Given the description of an element on the screen output the (x, y) to click on. 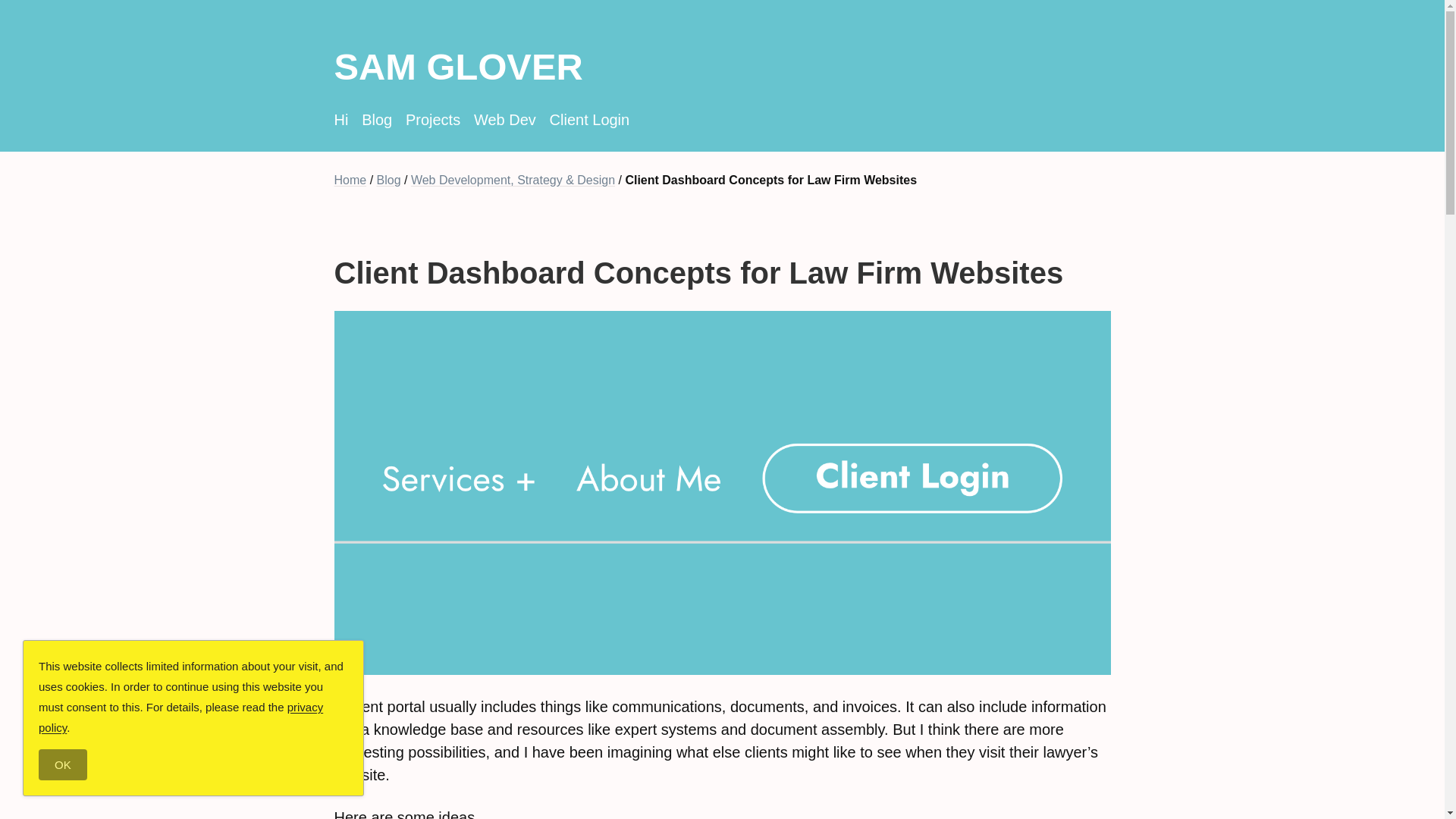
Projects (433, 119)
Client Login (590, 119)
Web Dev (504, 119)
privacy policy (181, 717)
Blog (389, 179)
Blog (376, 119)
SAM GLOVER (721, 66)
Home (349, 179)
OK (63, 764)
